Given the description of an element on the screen output the (x, y) to click on. 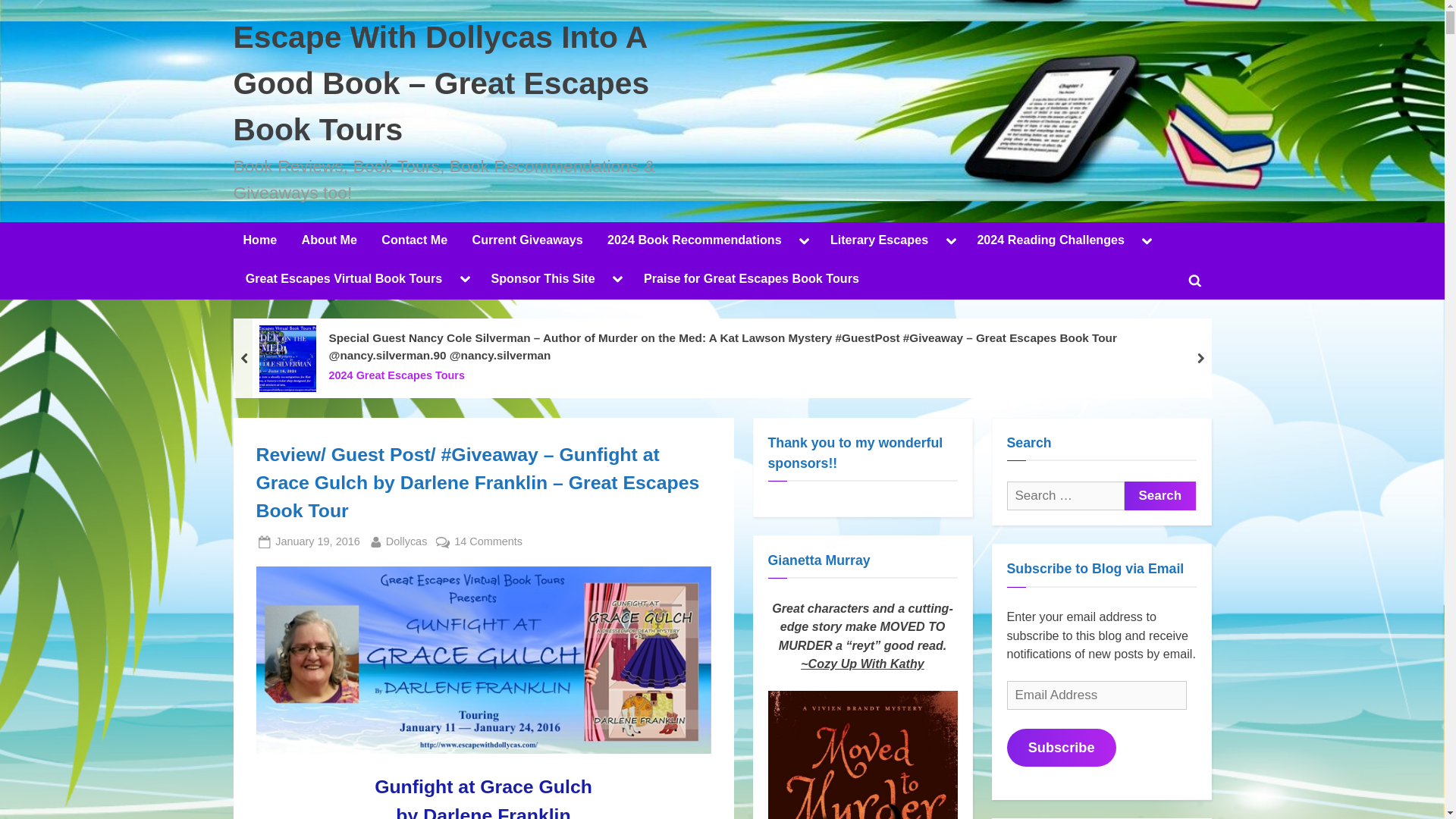
2024 Book Recommendations (693, 241)
Toggle sub-menu (804, 241)
Home (259, 241)
Current Giveaways (527, 241)
Search (1159, 495)
Literary Escapes (879, 241)
Toggle sub-menu (950, 241)
Search (1159, 495)
About Me (329, 241)
Contact Me (414, 241)
